Given the description of an element on the screen output the (x, y) to click on. 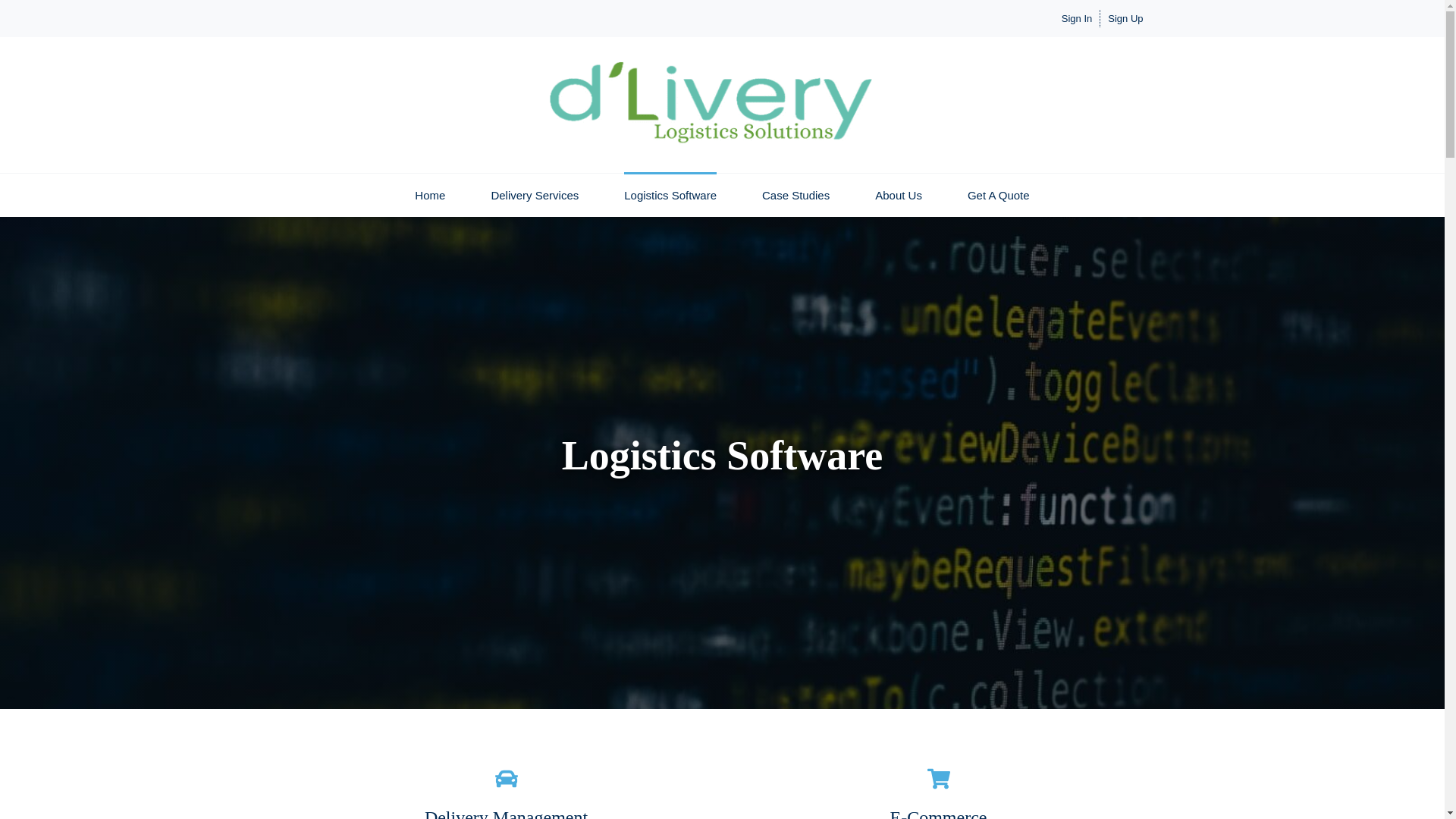
Logistics Software (670, 195)
Delivery Services (534, 195)
Get A Quote (998, 195)
Logistics Software (670, 195)
Home (429, 195)
Get A Quote (998, 195)
Delivery Services (534, 195)
Case Studies (795, 195)
Home (429, 195)
Sign In (1076, 18)
About Us (898, 195)
About Us (898, 195)
Logo (711, 104)
Case Studies (795, 195)
Sign Up (1125, 18)
